Given the description of an element on the screen output the (x, y) to click on. 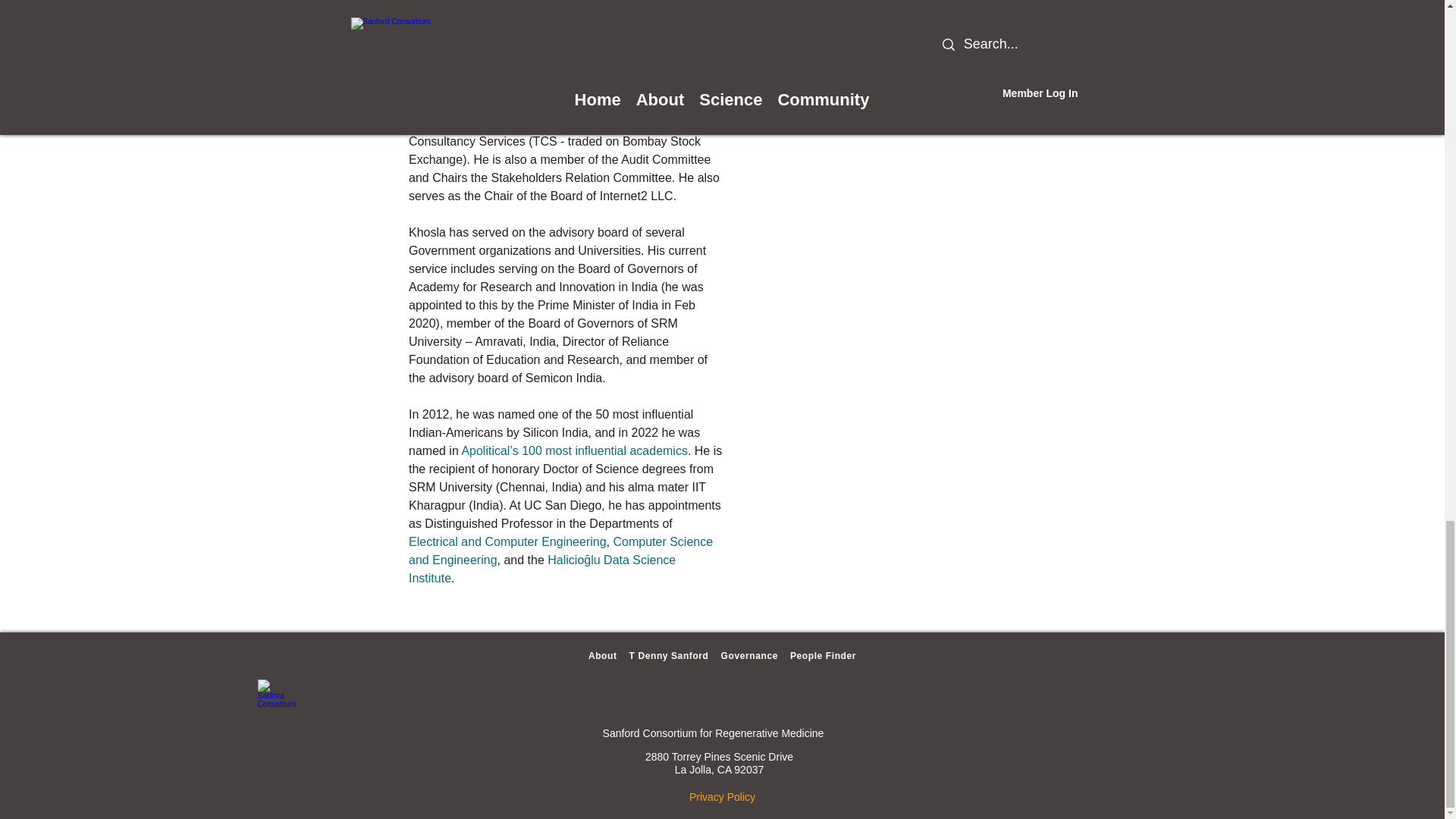
People Finder (823, 656)
Electrical and Computer Engineering (508, 541)
Computer Science and Engineering (562, 550)
About (603, 656)
Privacy Policy (721, 797)
T Denny Sanford (669, 656)
